Given the description of an element on the screen output the (x, y) to click on. 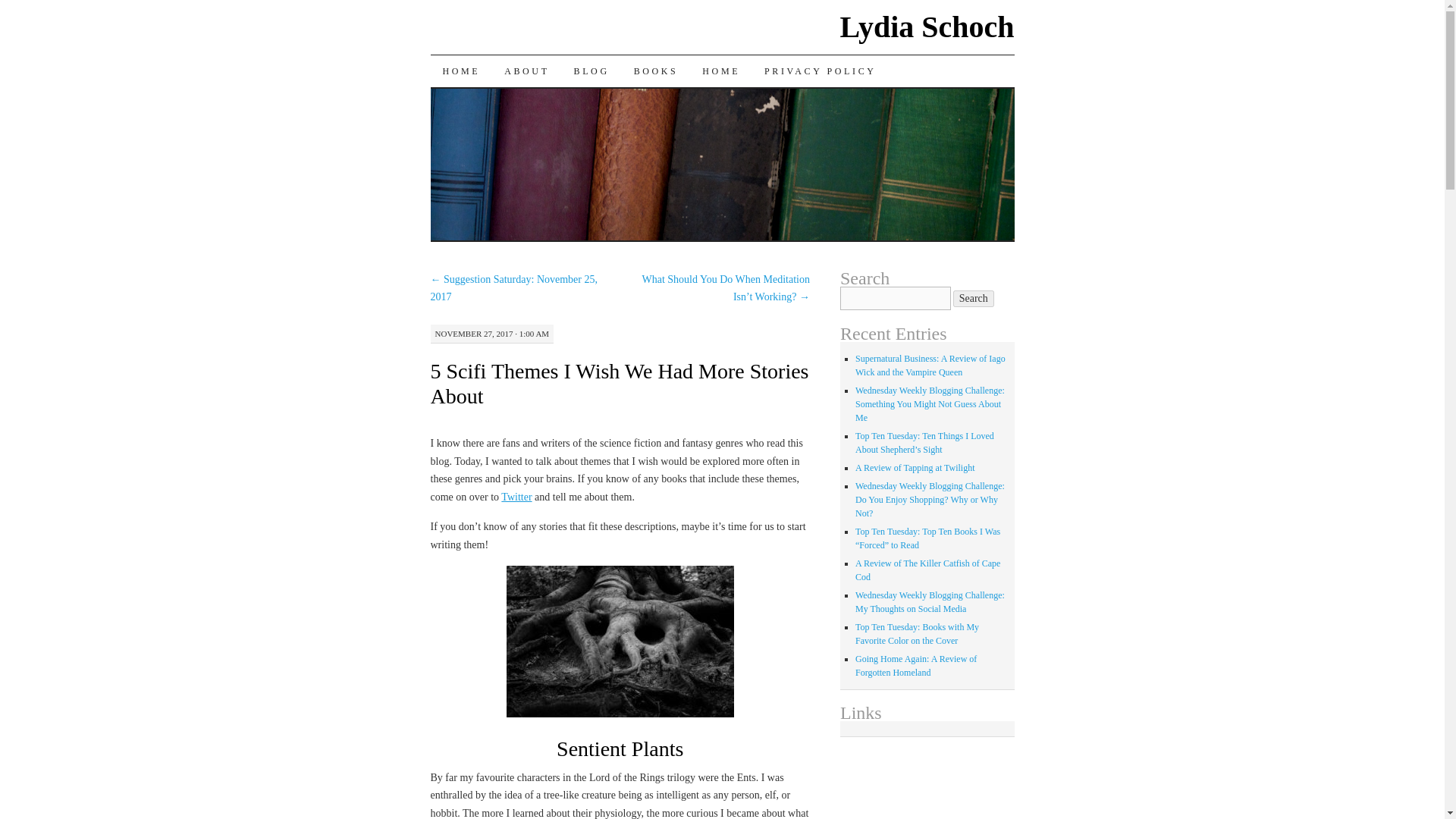
A Review of The Killer Catfish of Cape Cod (928, 569)
Search (973, 298)
PRIVACY POLICY (820, 70)
A Review of Tapping at Twilight (915, 467)
5 Scifi Themes I Wish We Had More Stories About (619, 383)
ABOUT (526, 70)
Going Home Again: A Review of Forgotten Homeland (916, 665)
Twitter (515, 496)
HOME (721, 70)
Lydia Schoch (926, 26)
Top Ten Tuesday: Books with My Favorite Color on the Cover (917, 633)
